Given the description of an element on the screen output the (x, y) to click on. 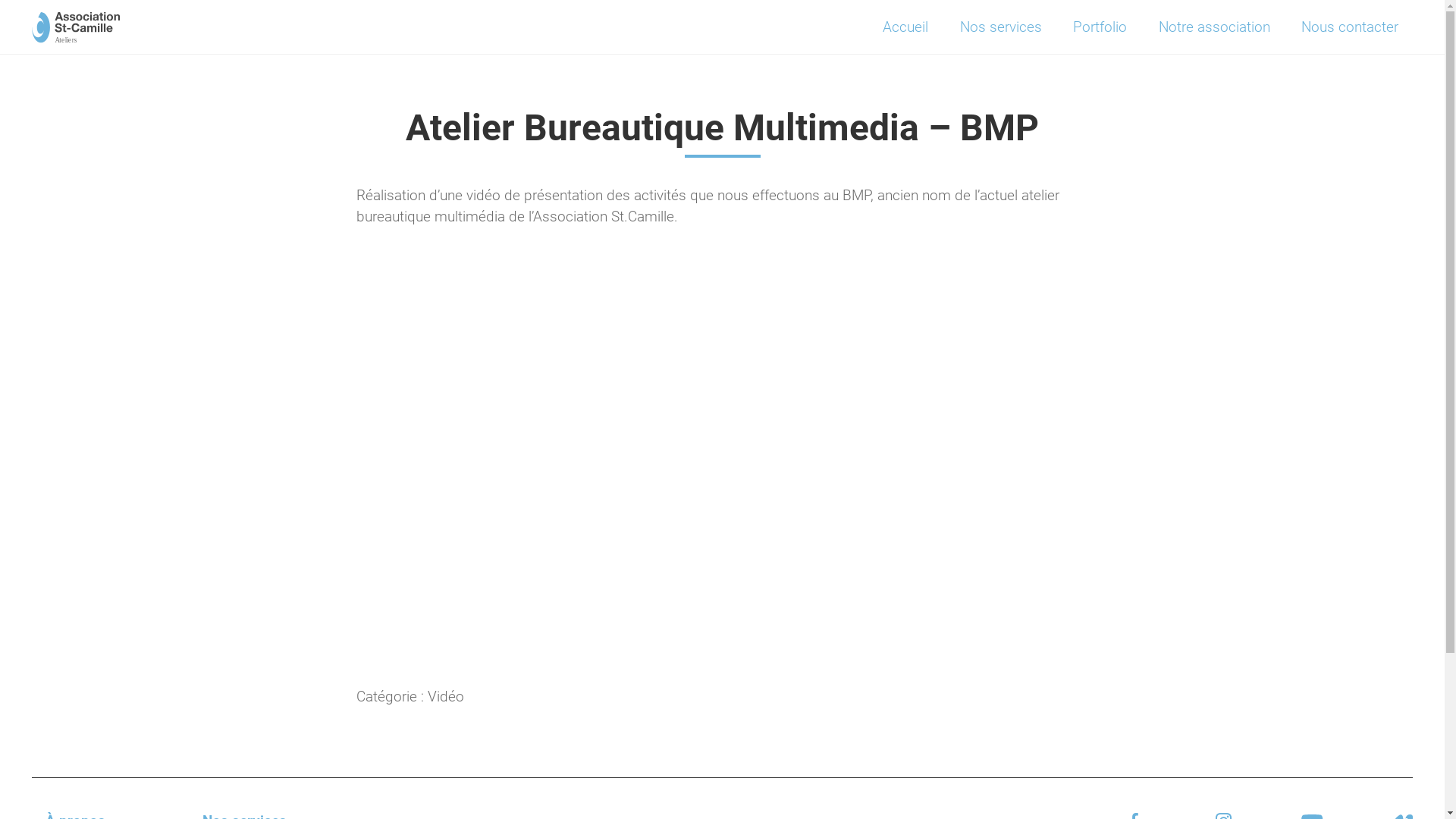
Accueil Element type: text (54, 11)
Accueil Element type: text (905, 26)
Nos services Element type: text (1000, 26)
Portfolio Element type: text (1099, 26)
Notre association Element type: text (1213, 26)
Nous contacter Element type: text (1349, 26)
